Given the description of an element on the screen output the (x, y) to click on. 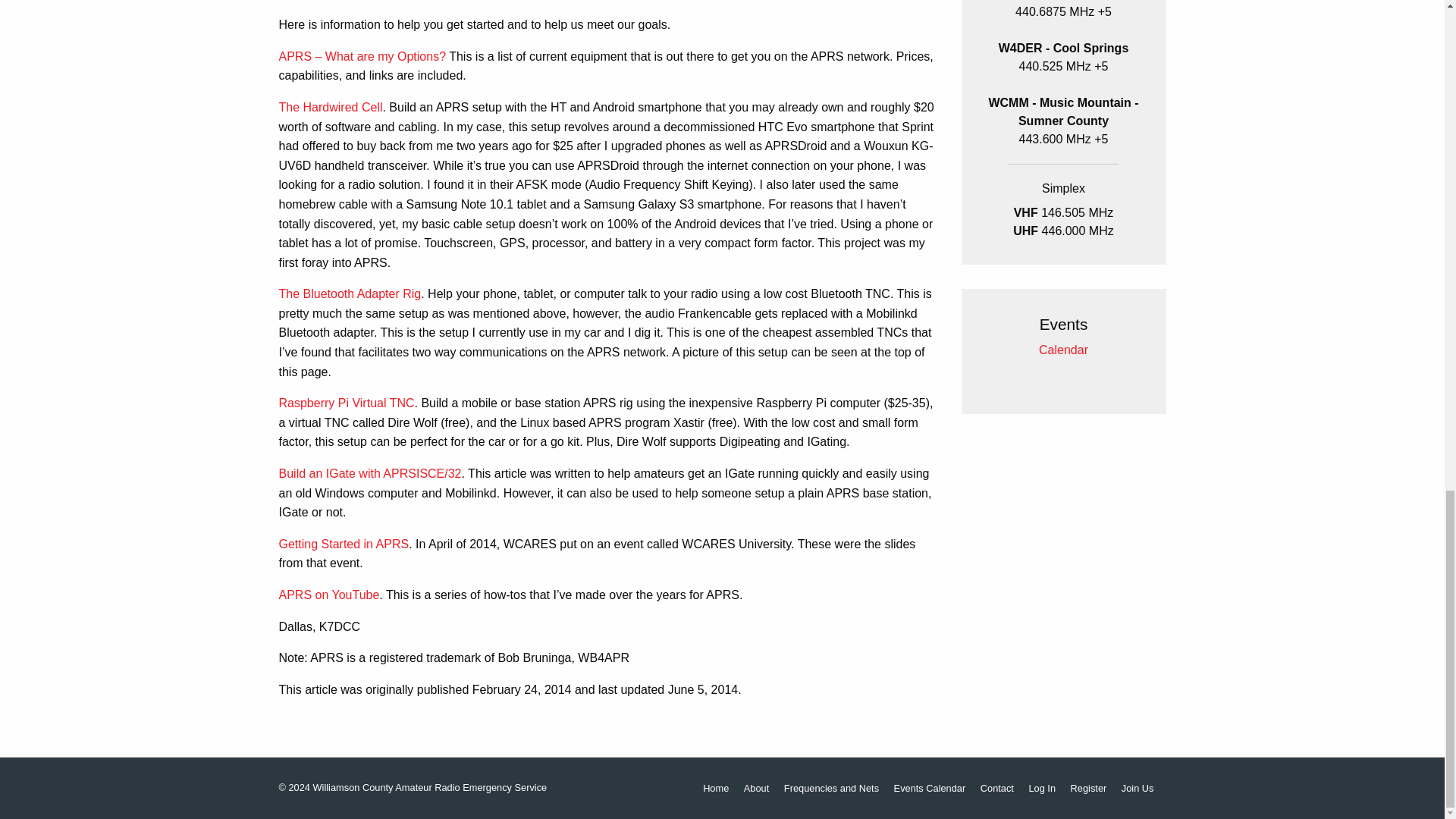
Build an APRS IGate (370, 472)
Home (716, 788)
